Given the description of an element on the screen output the (x, y) to click on. 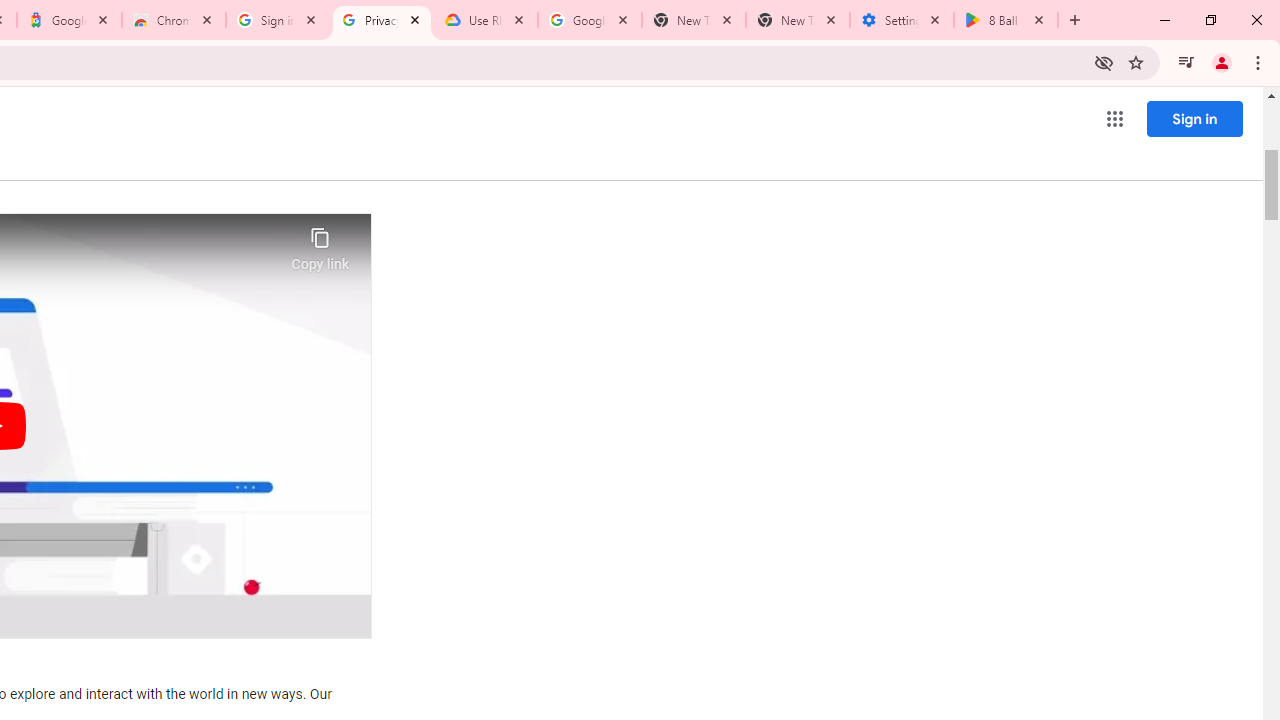
Google (68, 20)
Chrome Web Store - Color themes by Chrome (173, 20)
Sign in - Google Accounts (278, 20)
